Given the description of an element on the screen output the (x, y) to click on. 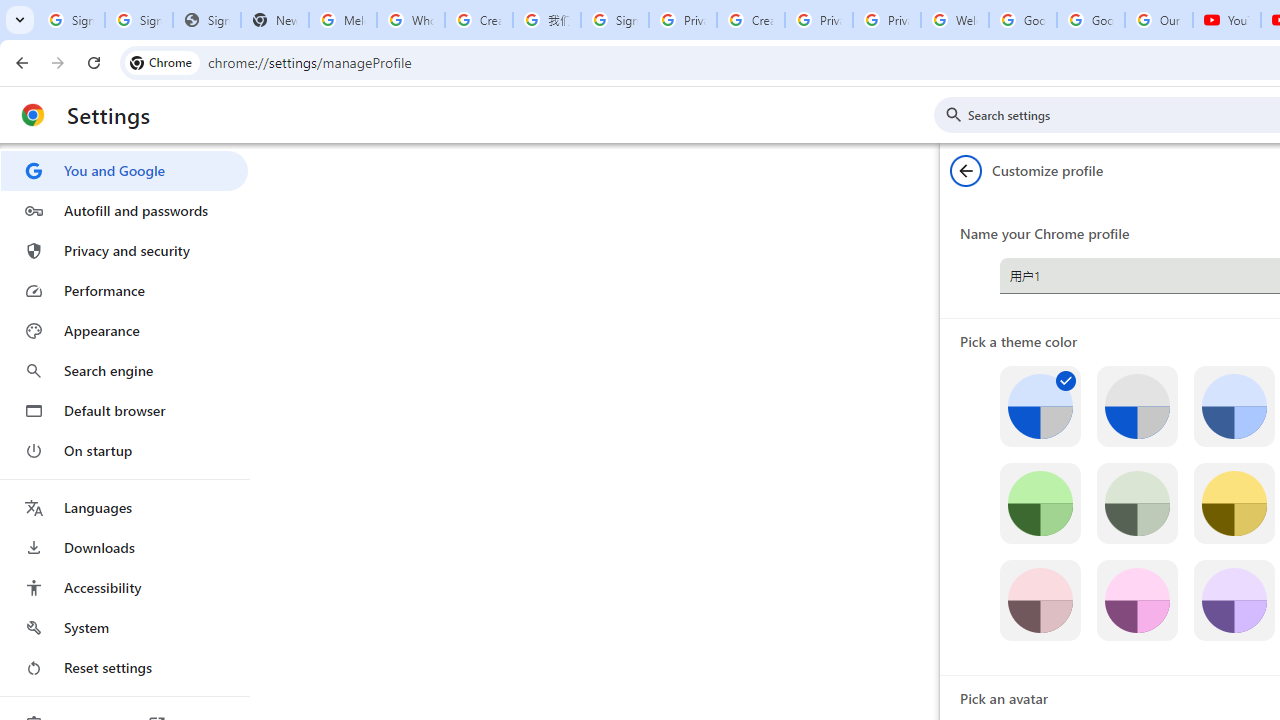
Appearance (124, 331)
Performance (124, 290)
Accessibility (124, 587)
Autofill and passwords (124, 210)
Sign in - Google Accounts (138, 20)
Default browser (124, 410)
